Given the description of an element on the screen output the (x, y) to click on. 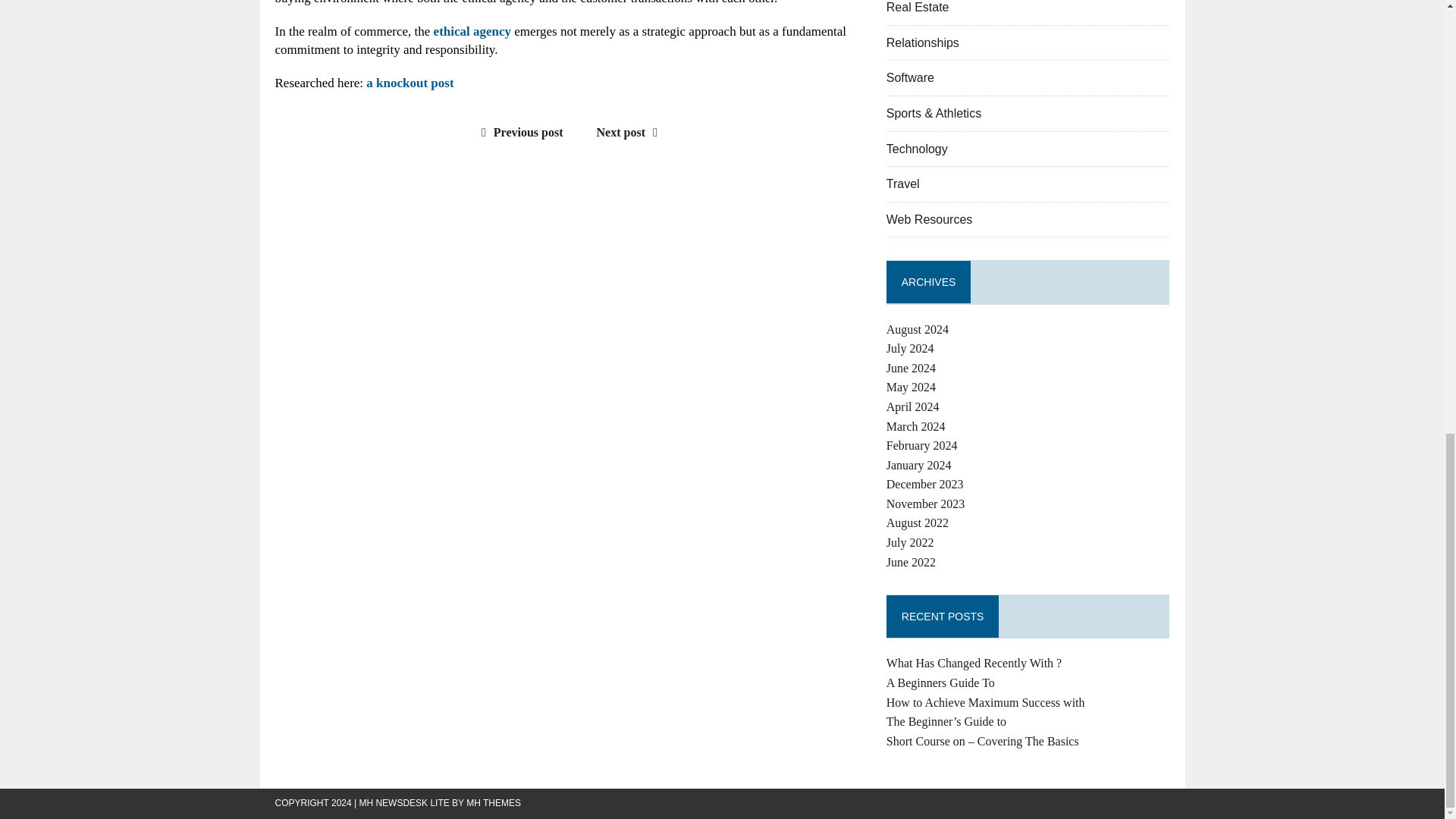
Previous post (518, 132)
Real Estate (917, 6)
July 2024 (910, 348)
Web Resources (929, 219)
Next post (630, 132)
Technology (916, 148)
a knockout post (409, 83)
June 2024 (911, 367)
August 2024 (917, 328)
Software (910, 77)
